Given the description of an element on the screen output the (x, y) to click on. 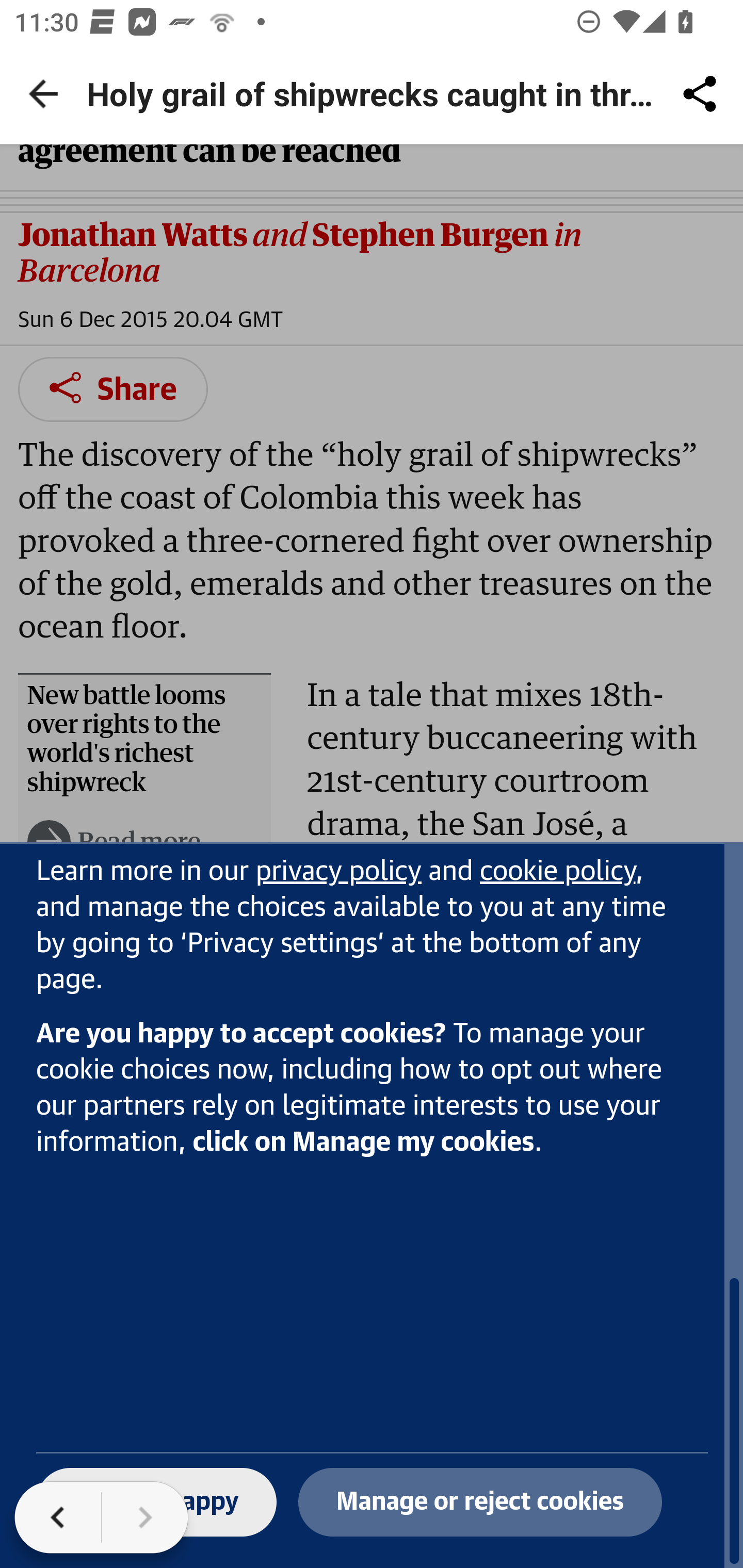
privacy policy (338, 873)
message-link (557, 873)
Manage or reject cookies (479, 1502)
